Given the description of an element on the screen output the (x, y) to click on. 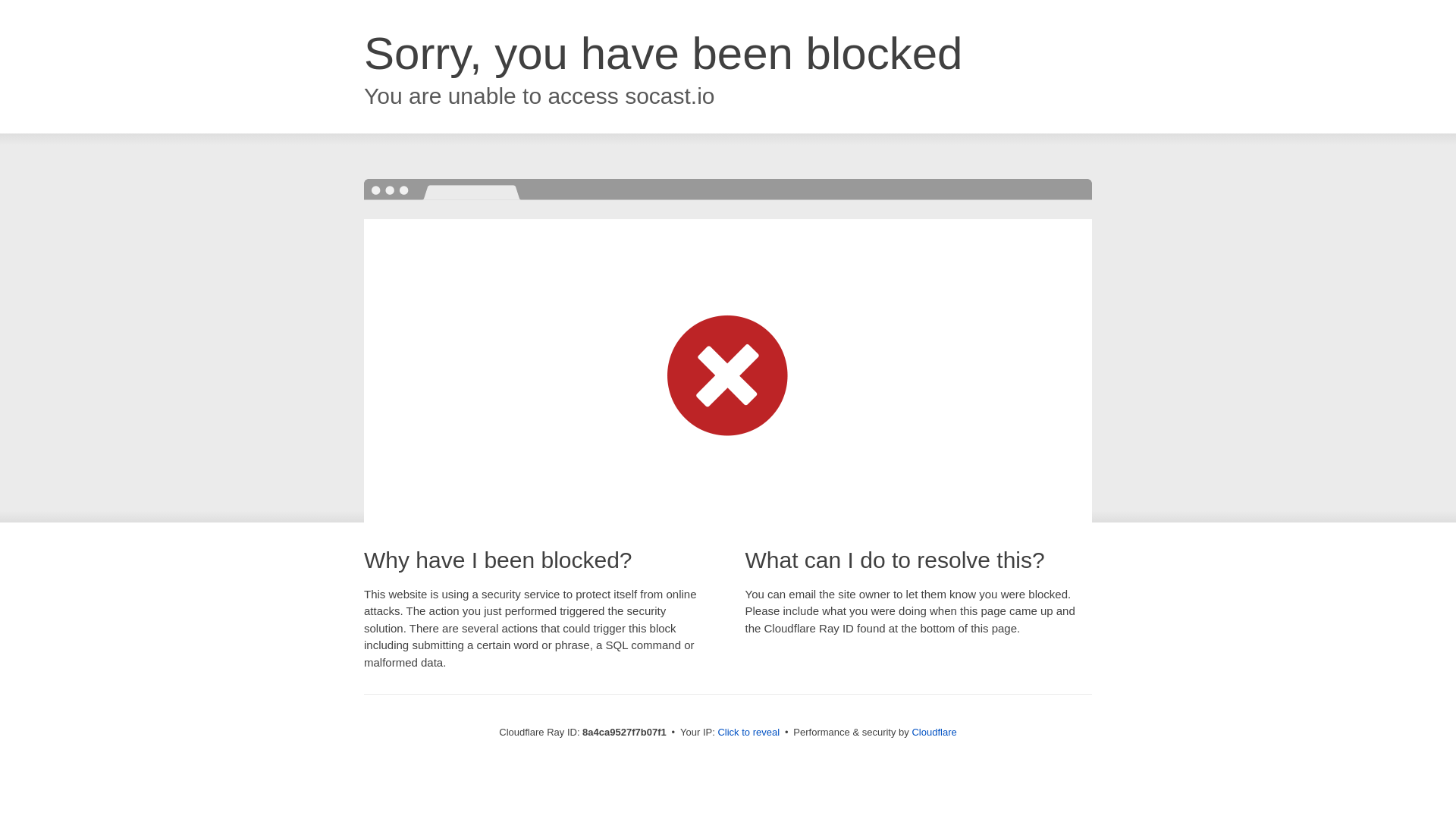
Click to reveal (747, 732)
Cloudflare (933, 731)
